Given the description of an element on the screen output the (x, y) to click on. 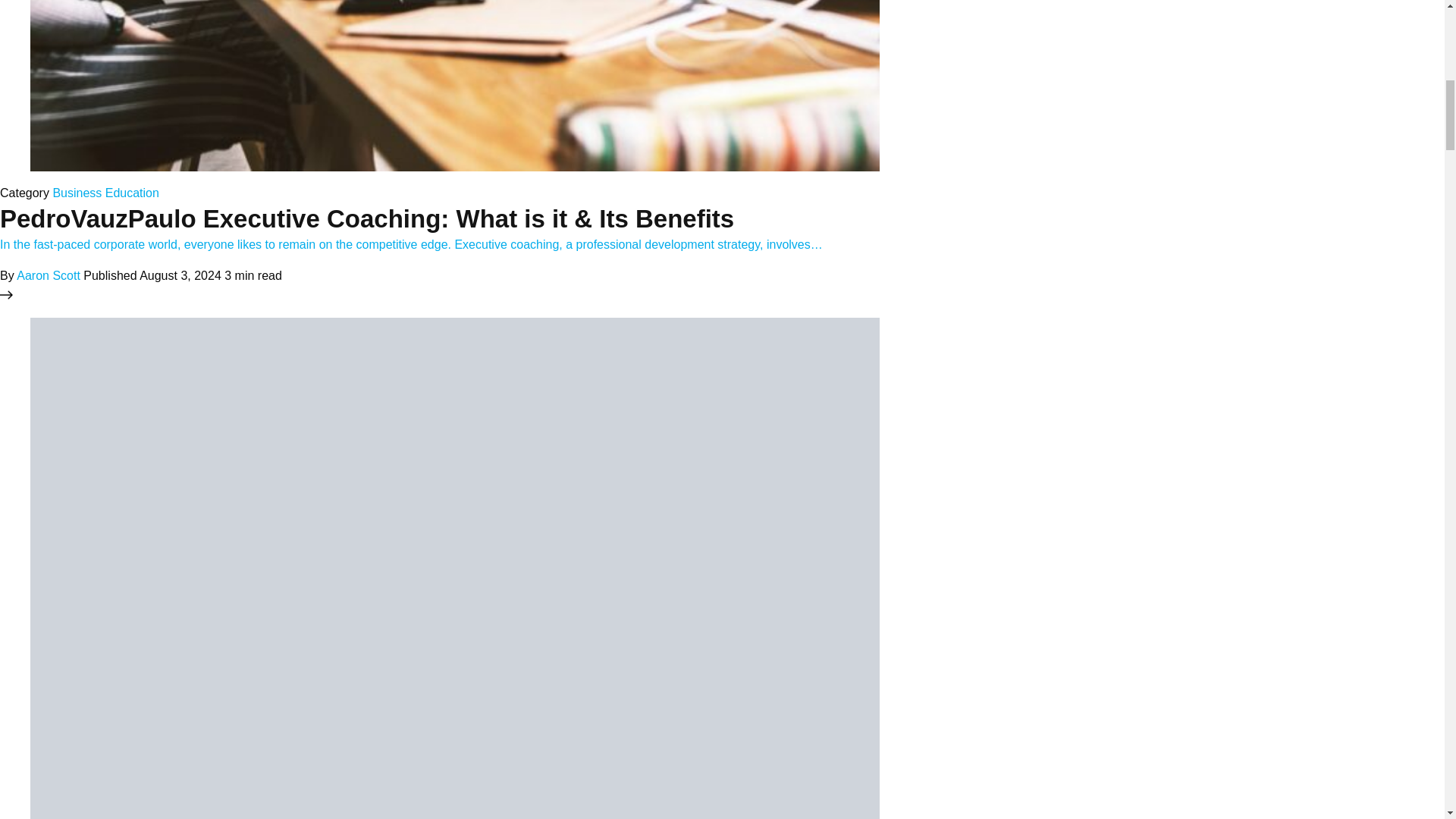
Education (131, 192)
Business (76, 192)
Aaron Scott (48, 274)
